Given the description of an element on the screen output the (x, y) to click on. 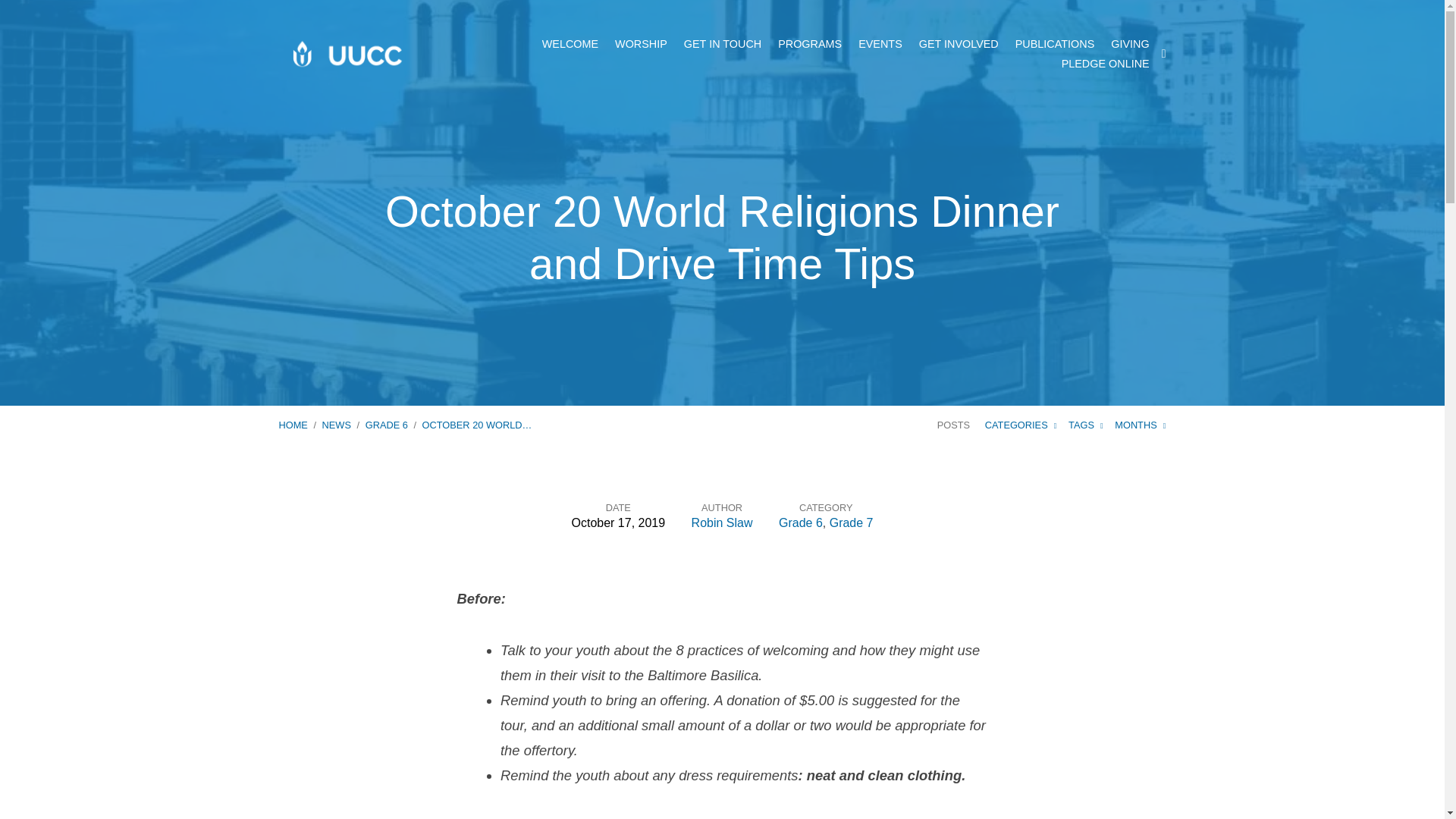
GET IN TOUCH (722, 43)
WORSHIP (640, 43)
PROGRAMS (809, 43)
Open Search (1163, 53)
WELCOME (569, 43)
